Given the description of an element on the screen output the (x, y) to click on. 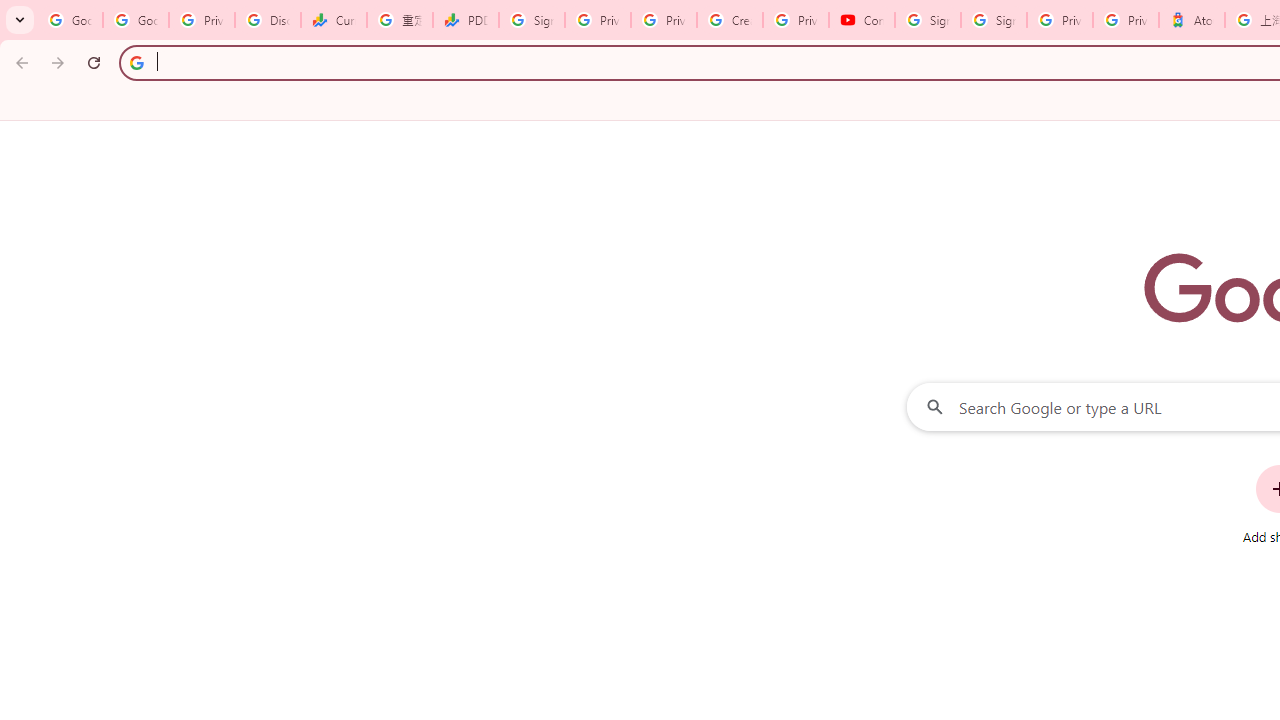
Sign in - Google Accounts (927, 20)
Sign in - Google Accounts (531, 20)
Search icon (136, 62)
Google Workspace Admin Community (70, 20)
Create your Google Account (729, 20)
PDD Holdings Inc - ADR (PDD) Price & News - Google Finance (465, 20)
Currencies - Google Finance (333, 20)
Content Creator Programs & Opportunities - YouTube Creators (861, 20)
